Given the description of an element on the screen output the (x, y) to click on. 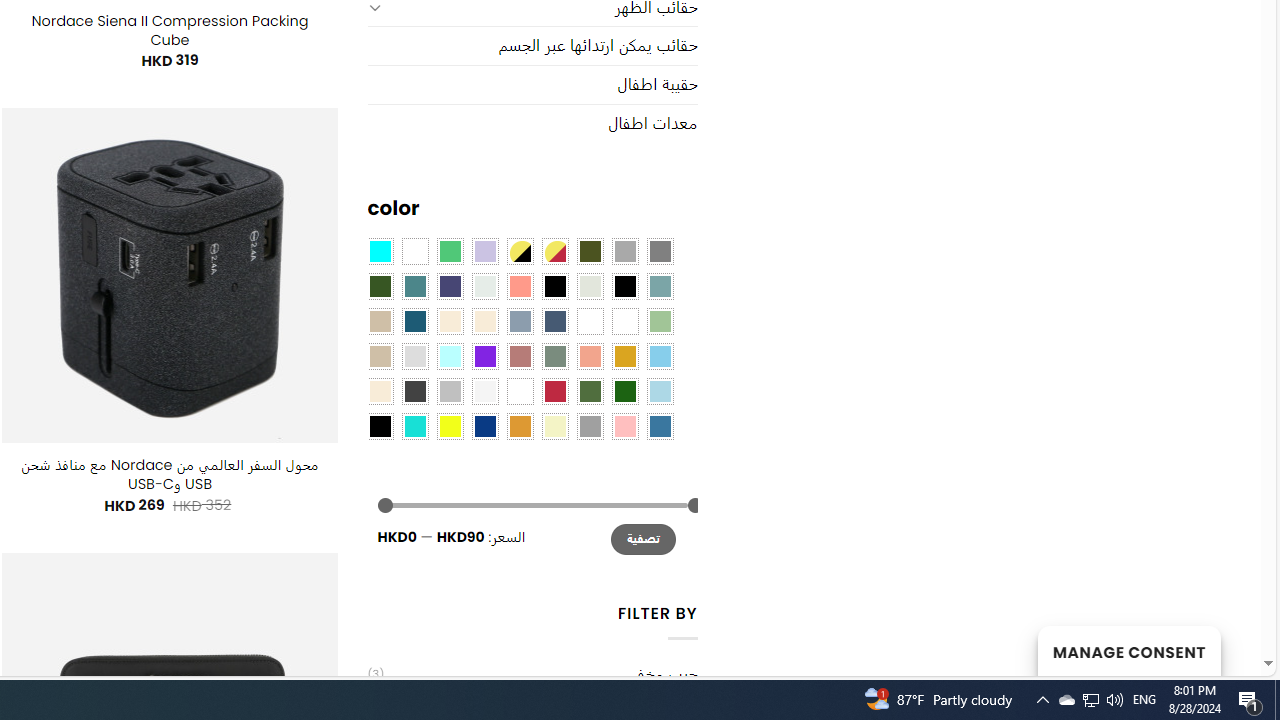
Black-Brown (624, 285)
Cream (484, 321)
Light Green (659, 321)
Mint (449, 355)
Brownie (379, 321)
